Given the description of an element on the screen output the (x, y) to click on. 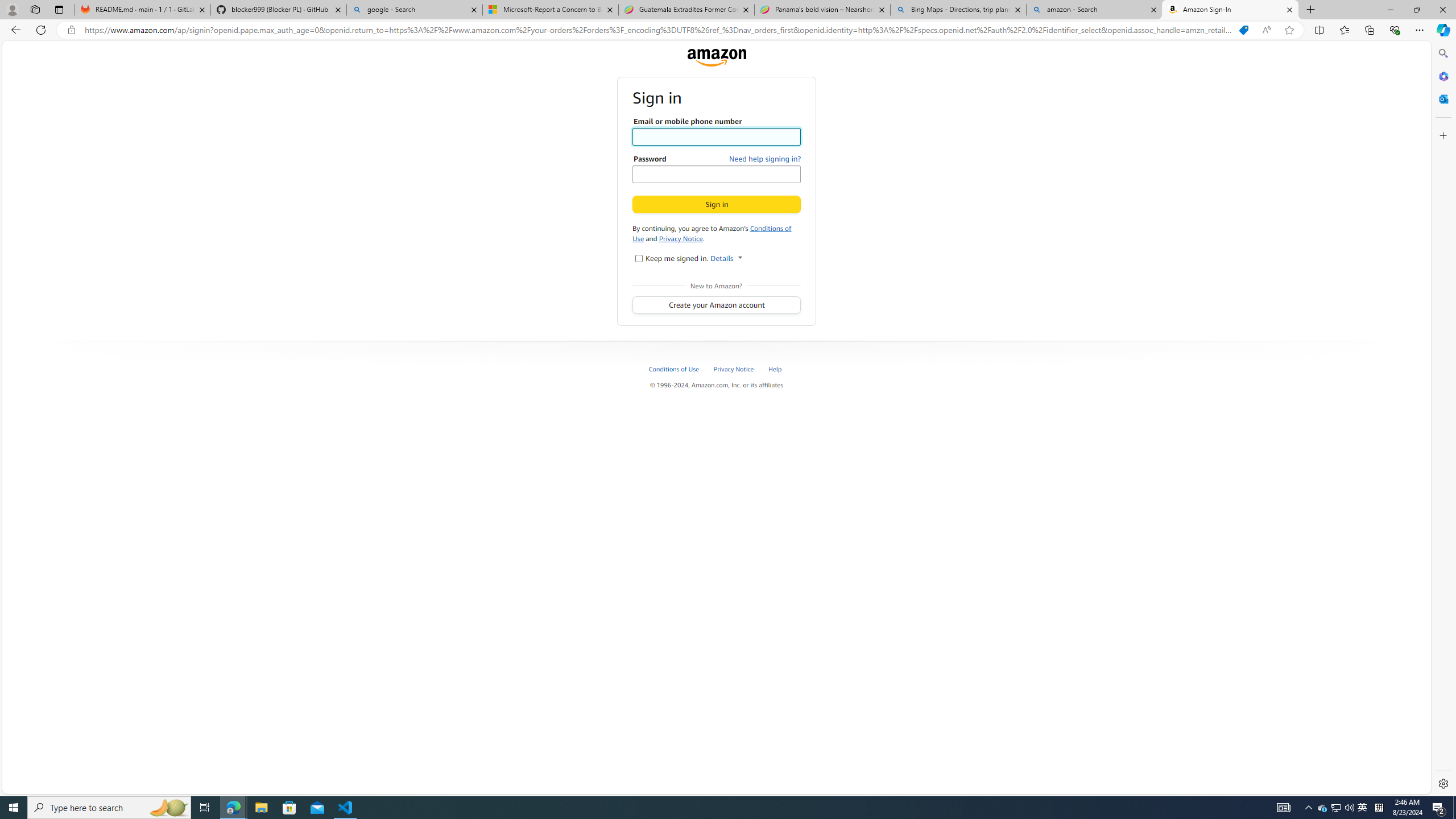
Privacy Notice  (740, 368)
Help  (775, 368)
Help  (780, 368)
amazon - Search (1094, 9)
Password (715, 173)
Create your Amazon account (716, 304)
Details  (726, 258)
